Given the description of an element on the screen output the (x, y) to click on. 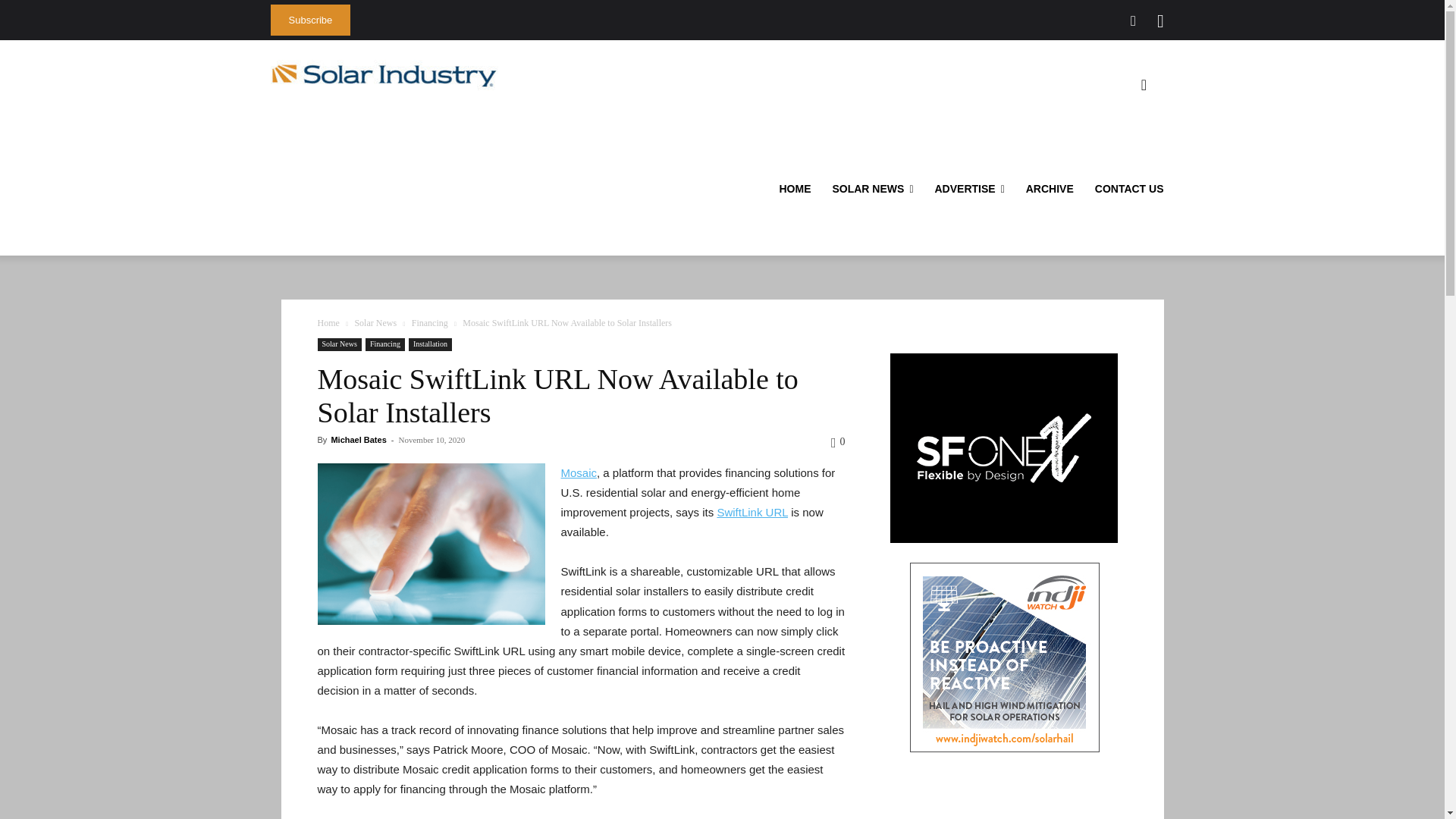
Solar Industry (383, 75)
HOME (794, 188)
Rss (1160, 21)
Subscribe (309, 20)
Twitter (1133, 21)
View all posts in Solar News (374, 322)
